Given the description of an element on the screen output the (x, y) to click on. 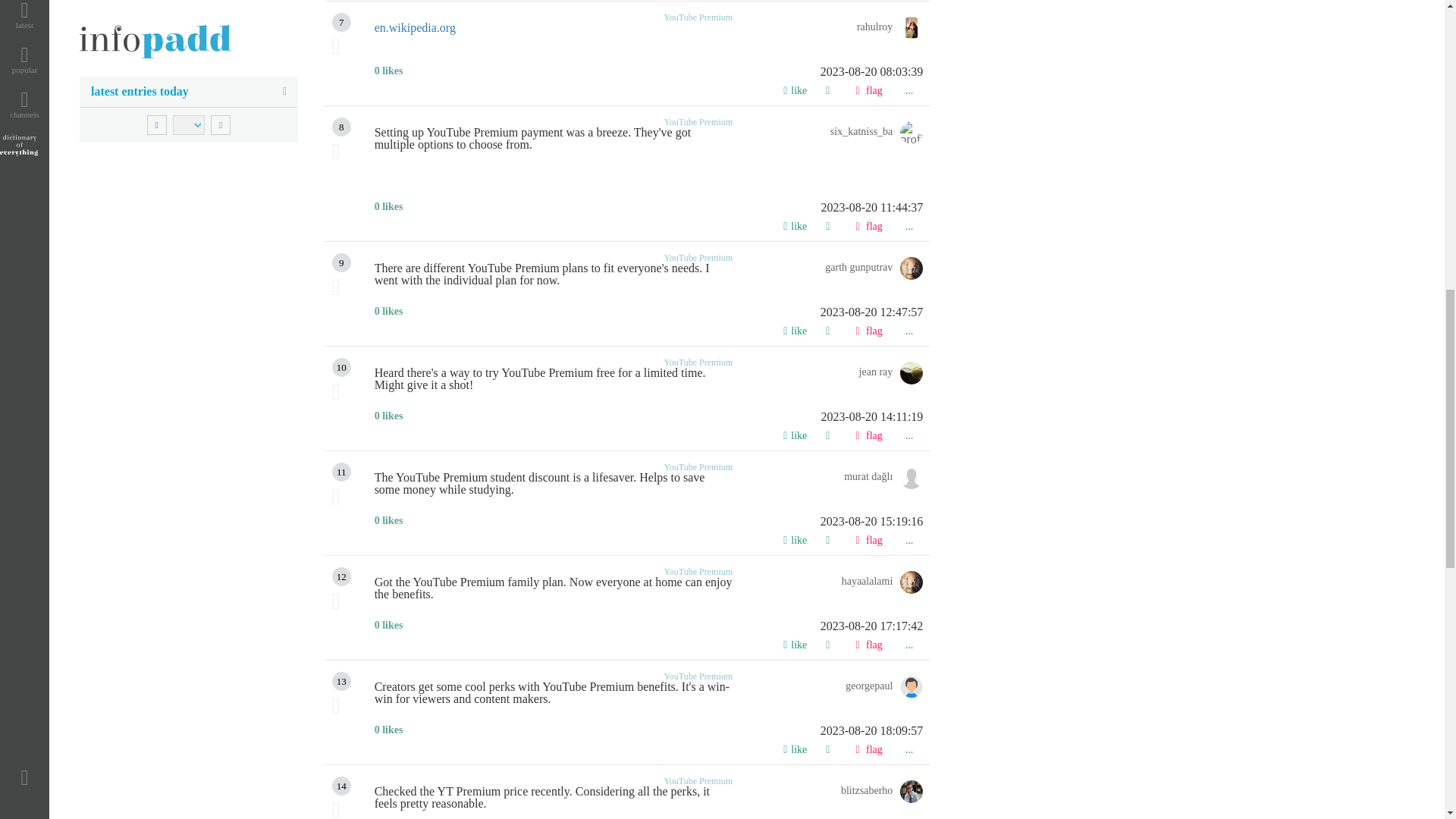
2023-08-20 14:11:19 (648, 417)
2023-08-20 15:19:16 (648, 521)
2023-08-20 08:03:39 (648, 71)
2023-08-20 17:17:42 (648, 625)
2023-08-20 12:47:57 (648, 312)
2023-08-20 18:09:57 (648, 730)
2023-08-20 11:44:37 (648, 207)
